Given the description of an element on the screen output the (x, y) to click on. 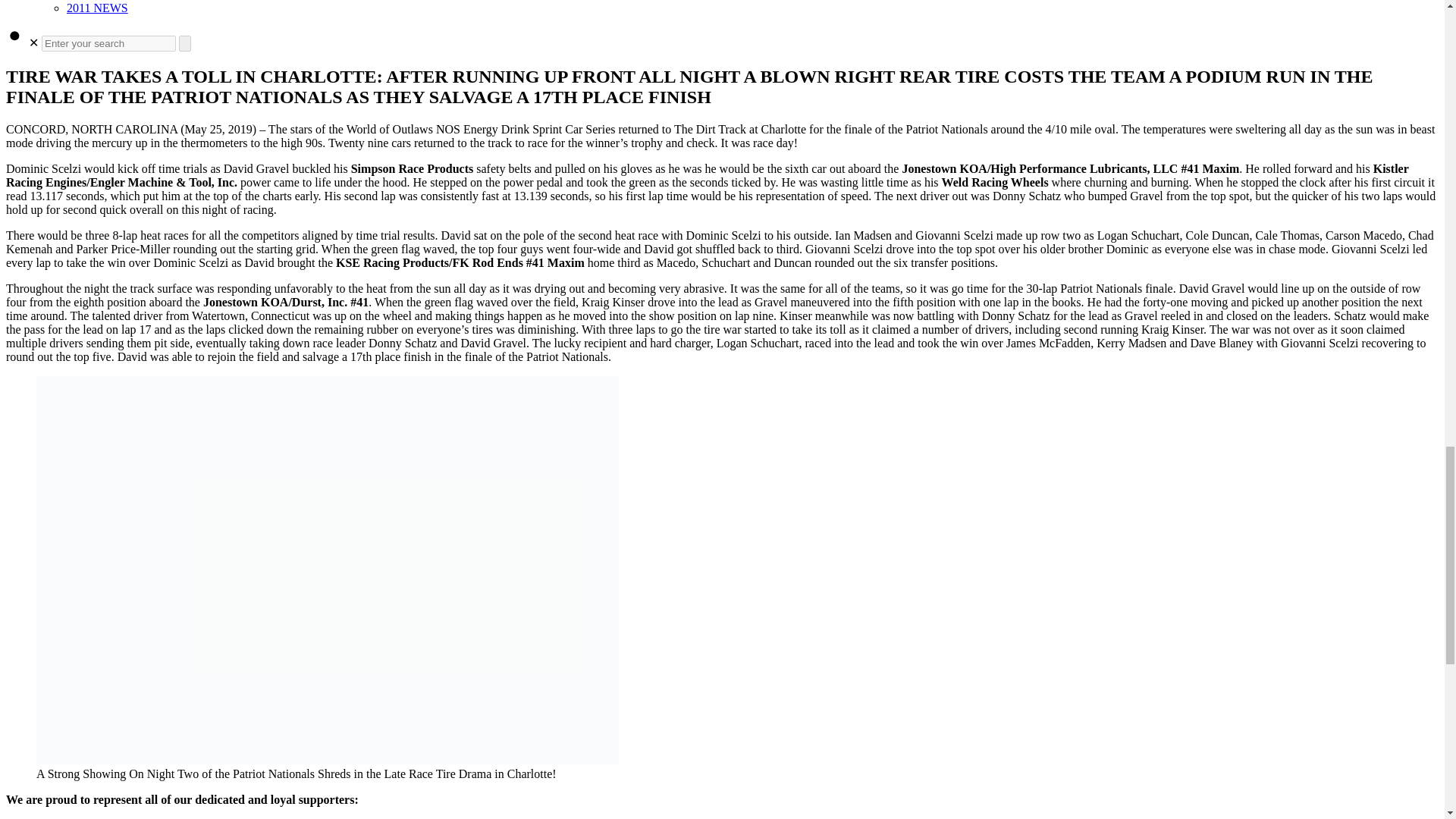
2011 NEWS (97, 7)
2012 NEWS (97, 0)
